Given the description of an element on the screen output the (x, y) to click on. 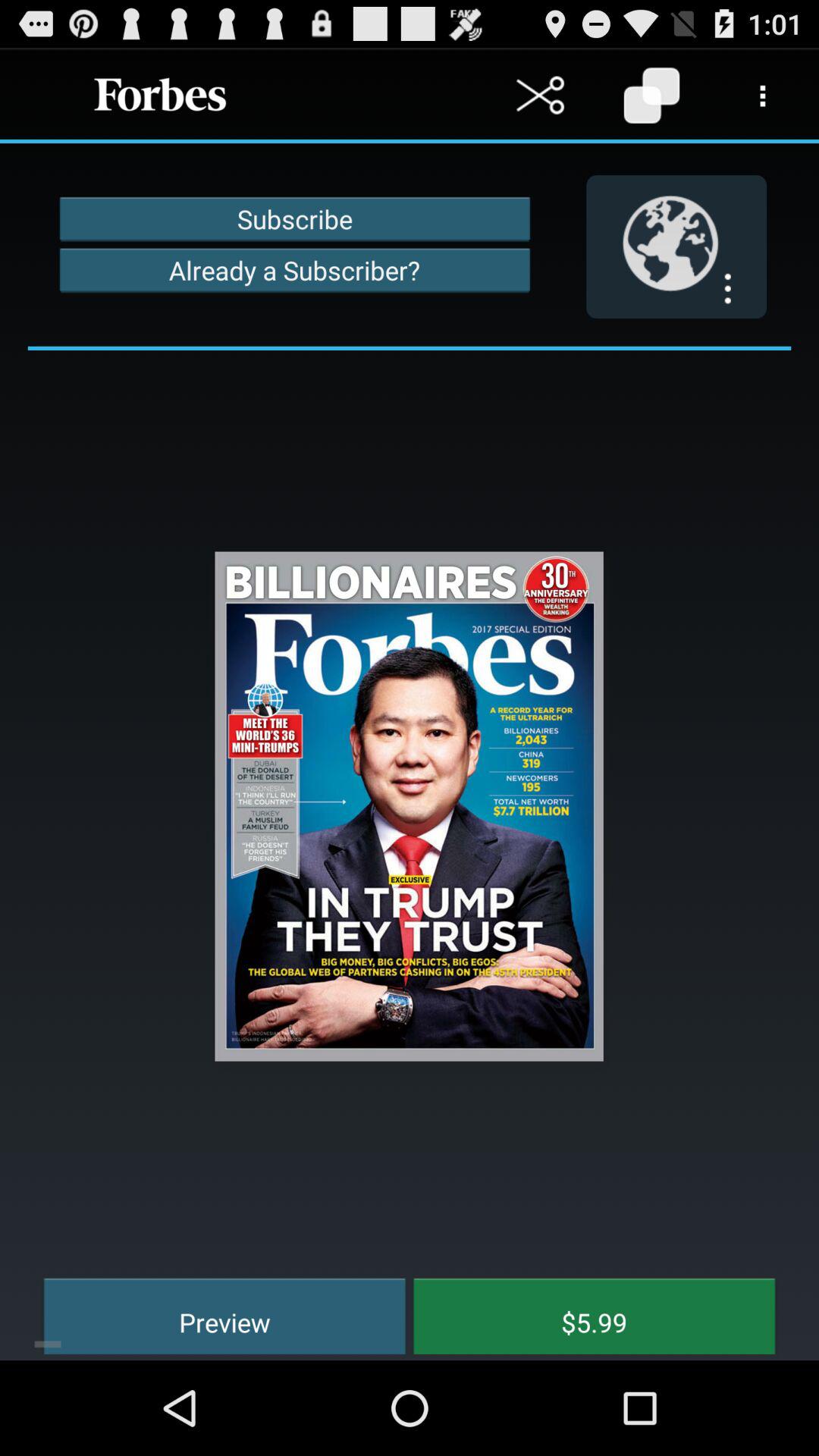
cut a text (540, 95)
